Given the description of an element on the screen output the (x, y) to click on. 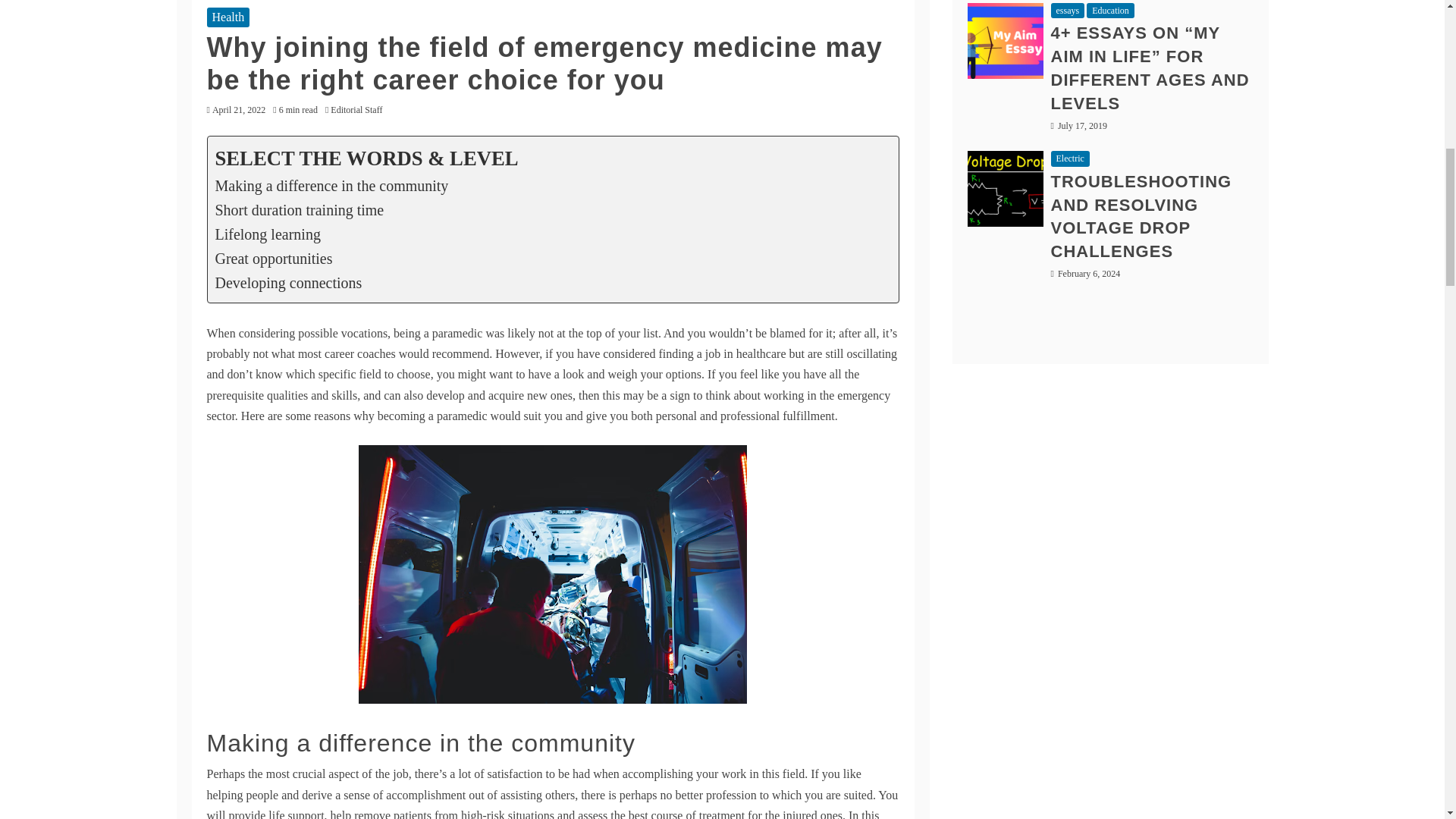
Making a difference in the community  (333, 185)
Developing connections  (290, 282)
Great opportunities (274, 258)
Short duration training time (299, 209)
Editorial Staff (360, 109)
Lifelong learning (267, 233)
Health (227, 16)
Great opportunities (274, 258)
April 21, 2022 (238, 109)
Short duration training time (299, 209)
Lifelong learning (267, 233)
